Given the description of an element on the screen output the (x, y) to click on. 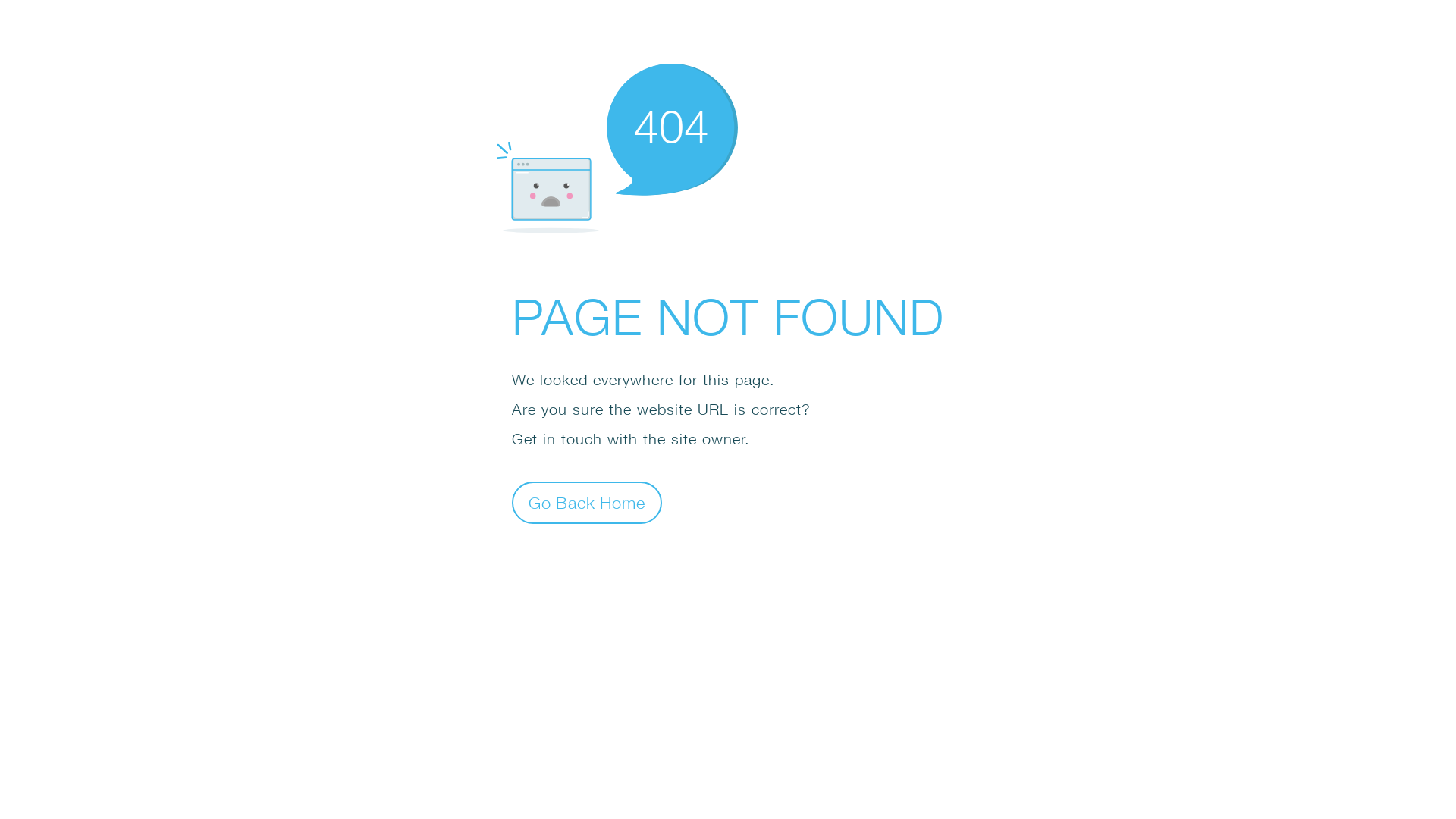
Go Back Home Element type: text (586, 502)
